Given the description of an element on the screen output the (x, y) to click on. 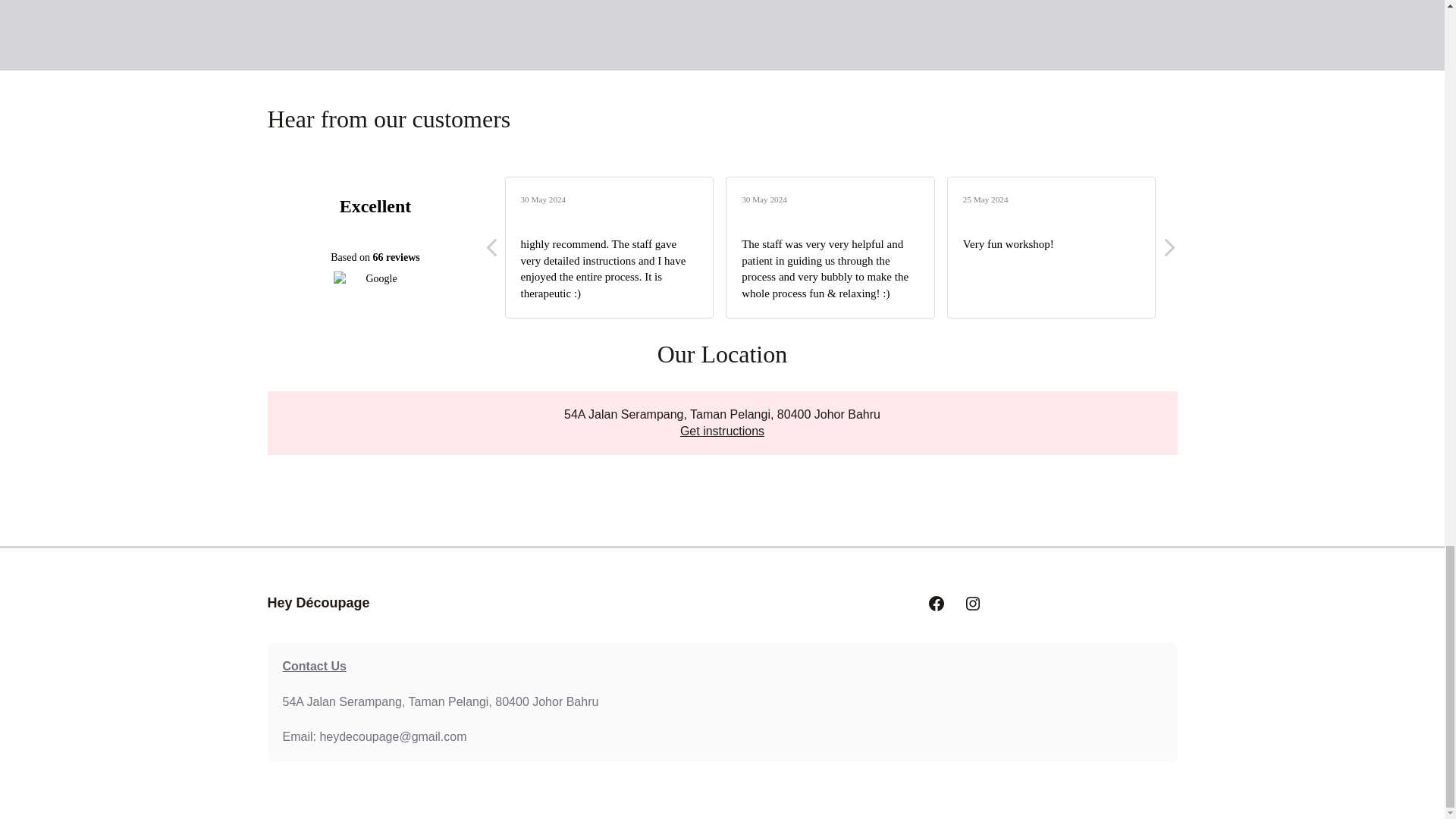
Instagram (971, 603)
Facebook (935, 603)
Get instructions (721, 431)
